Given the description of an element on the screen output the (x, y) to click on. 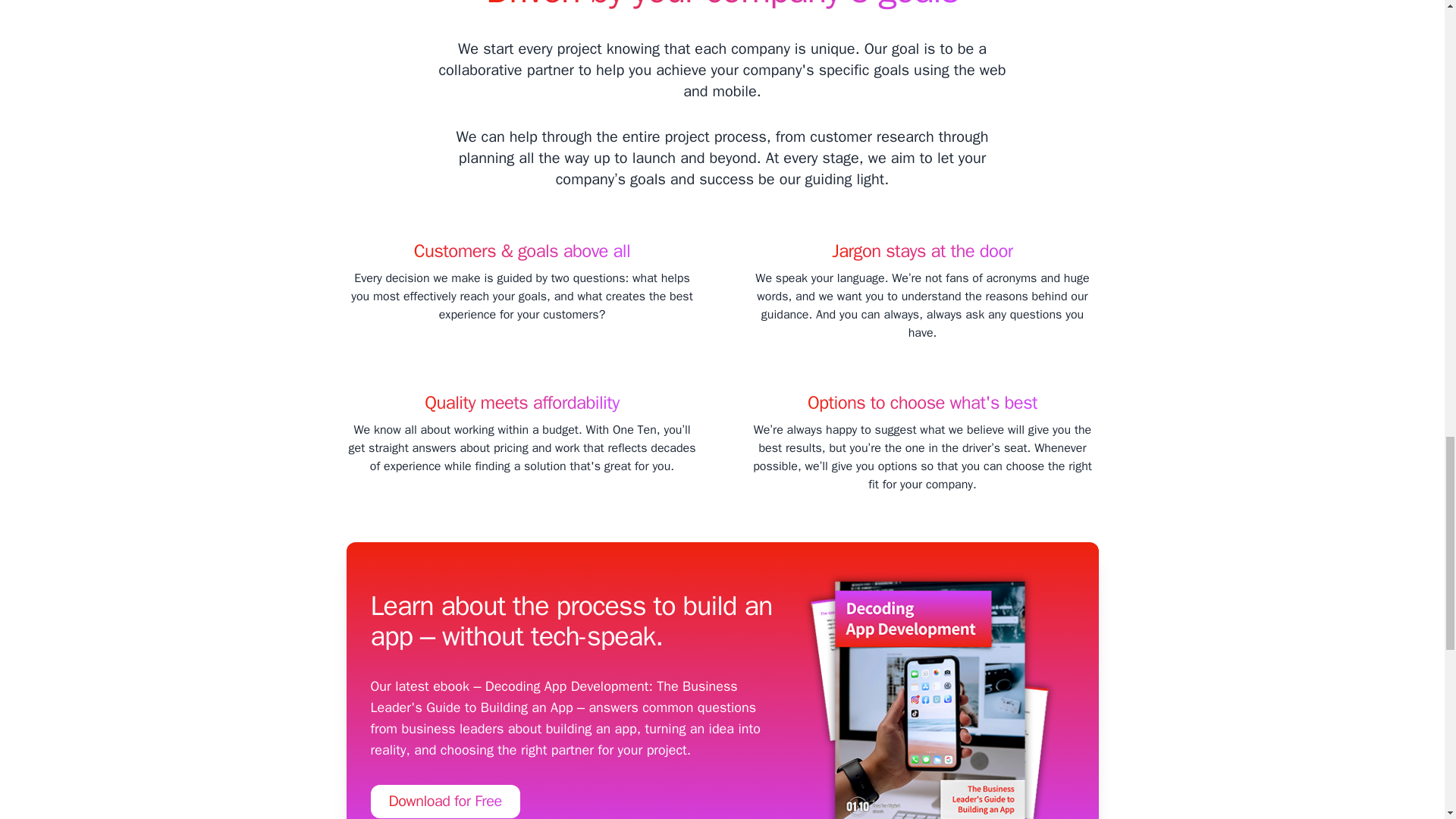
Download for Free (444, 801)
